Given the description of an element on the screen output the (x, y) to click on. 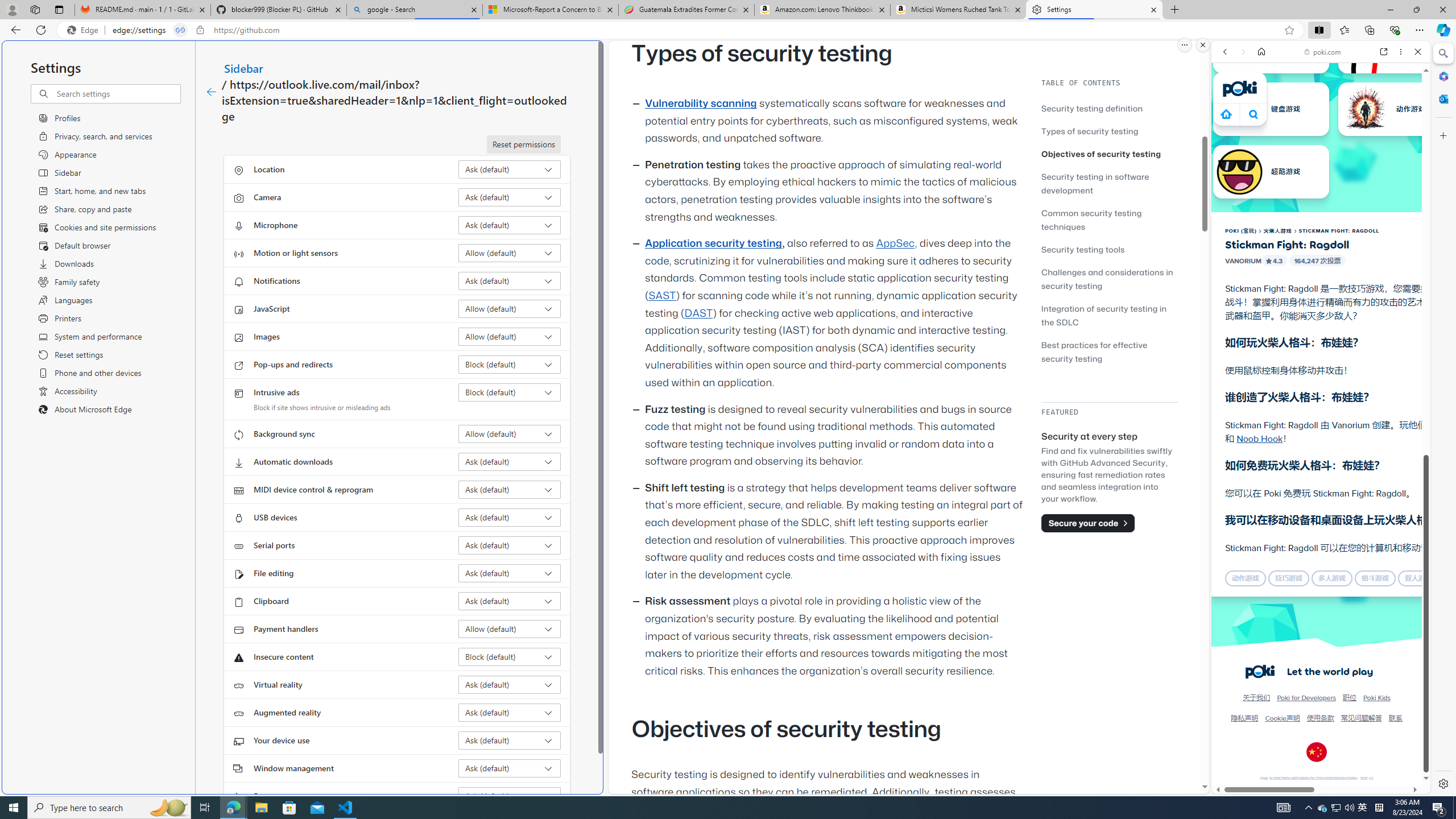
WEB   (1230, 130)
Io Games (1320, 351)
Payment handlers Allow (default) (509, 628)
Objectives of security testing (1109, 153)
Show More Games for Girls (1390, 407)
Common security testing techniques (1109, 219)
